Given the description of an element on the screen output the (x, y) to click on. 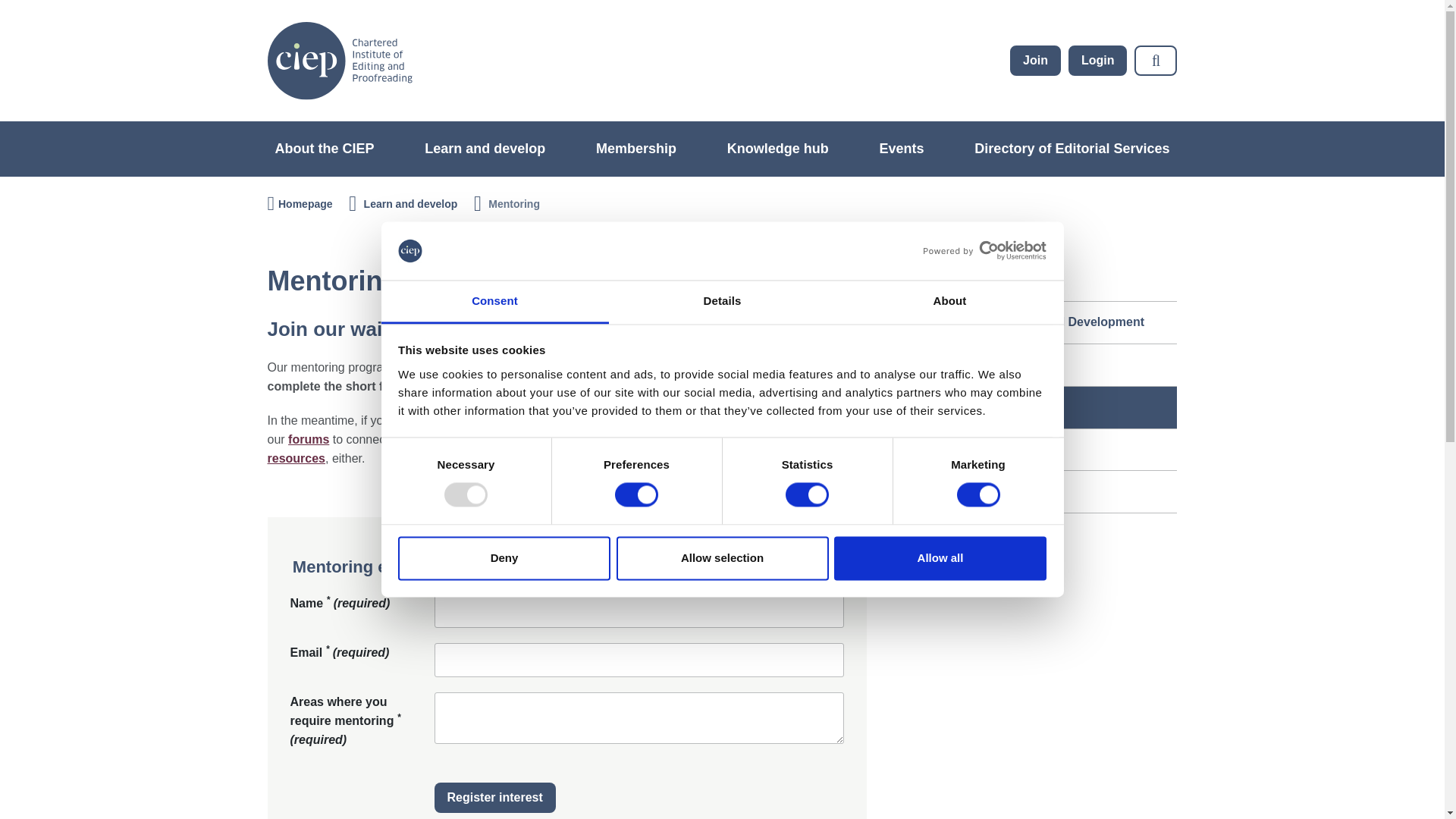
Skip to content (307, 137)
Allow selection (721, 557)
Consent (494, 301)
Join (1035, 60)
Allow all (940, 557)
About (948, 301)
Details (721, 301)
Login (1097, 60)
Deny (503, 557)
